Given the description of an element on the screen output the (x, y) to click on. 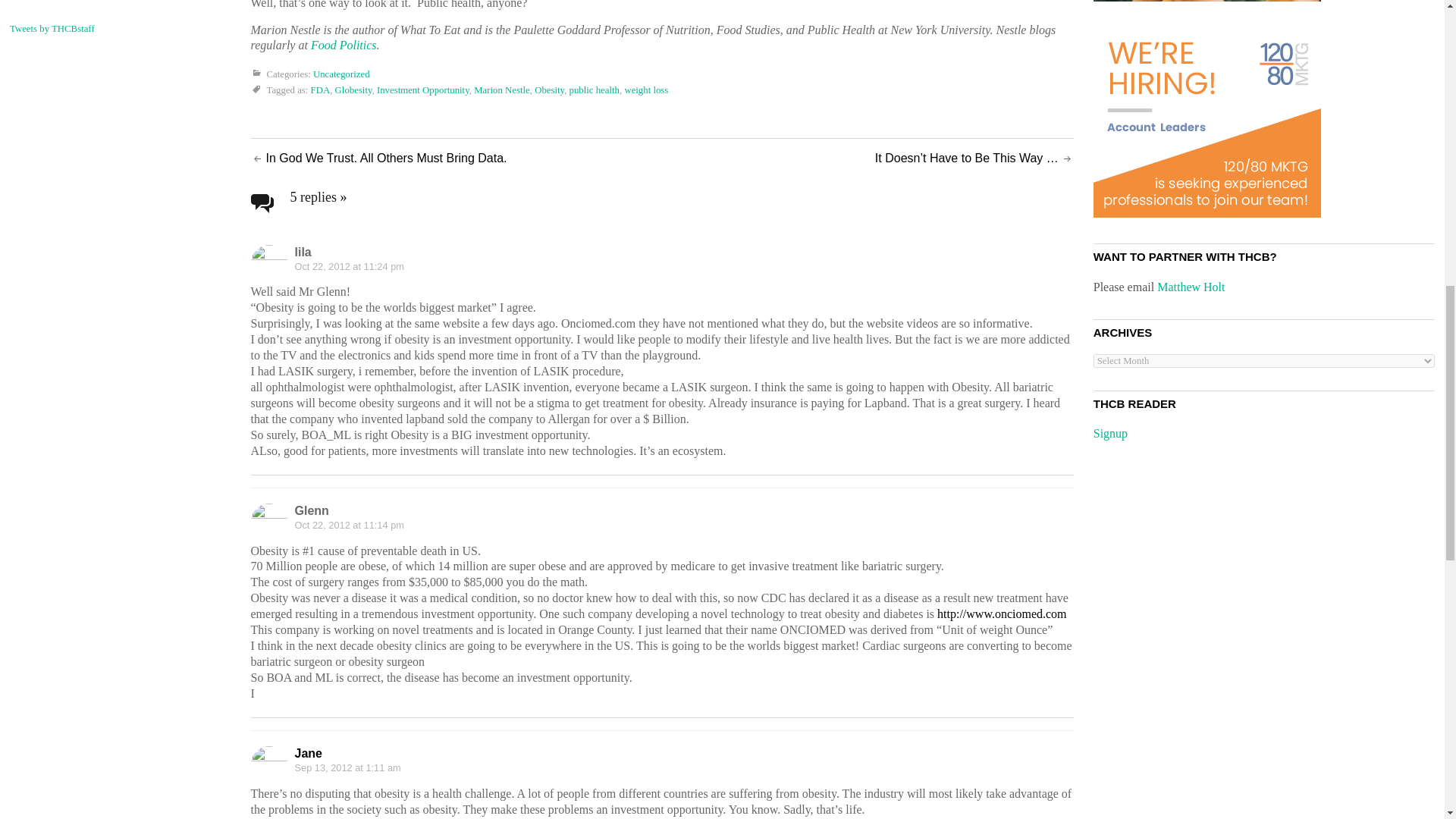
public health (594, 90)
Globesity (353, 90)
Oct 22, 2012 at 11:24 pm (348, 266)
Oct 22, 2012 at 11:14 pm (348, 524)
Tweets by THCBstaff (52, 28)
FDA (320, 90)
weight loss (646, 90)
Food Politics (344, 44)
In God We Trust. All Others Must Bring Data. (385, 157)
Marion Nestle (501, 90)
